Given the description of an element on the screen output the (x, y) to click on. 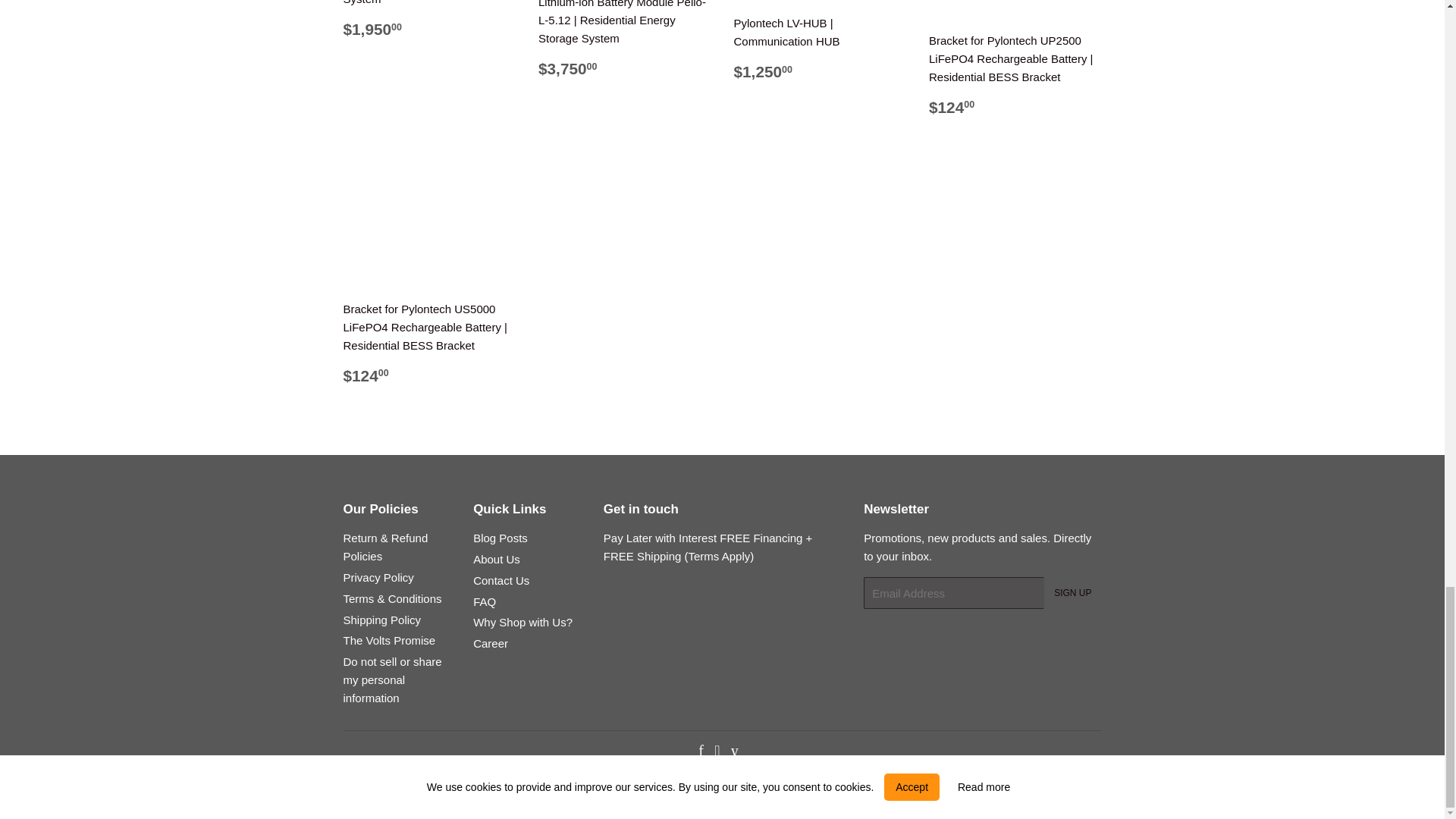
Shop Pay (1043, 793)
Apple Pay (826, 793)
Google Pay (956, 793)
Discover (913, 793)
Visa (1085, 793)
Mastercard (999, 793)
Diners Club (870, 793)
American Express (782, 793)
